Given the description of an element on the screen output the (x, y) to click on. 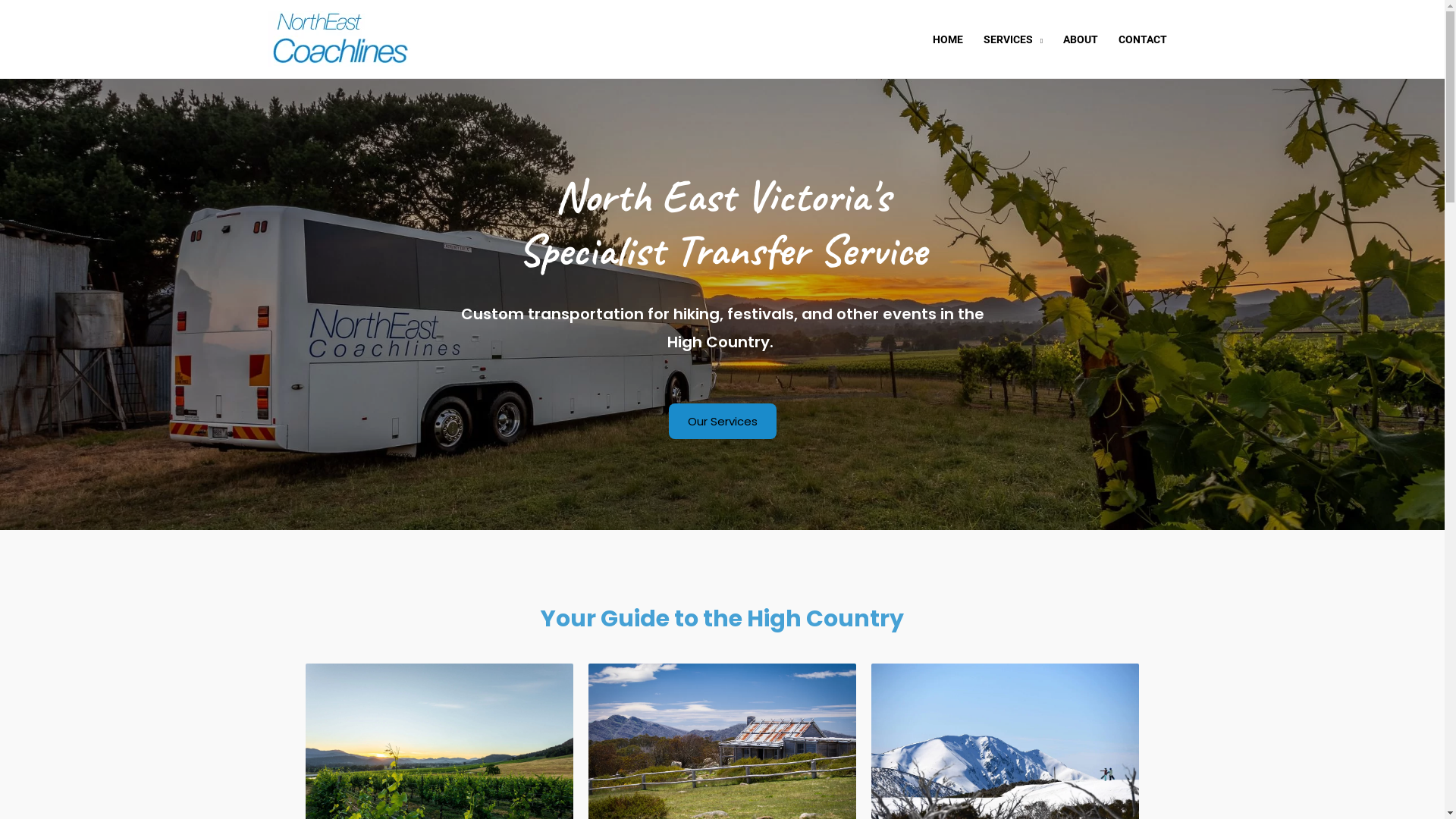
ABOUT Element type: text (1079, 38)
Our Services Element type: text (722, 421)
HOME Element type: text (947, 38)
SERVICES Element type: text (1012, 38)
CONTACT Element type: text (1142, 38)
